Given the description of an element on the screen output the (x, y) to click on. 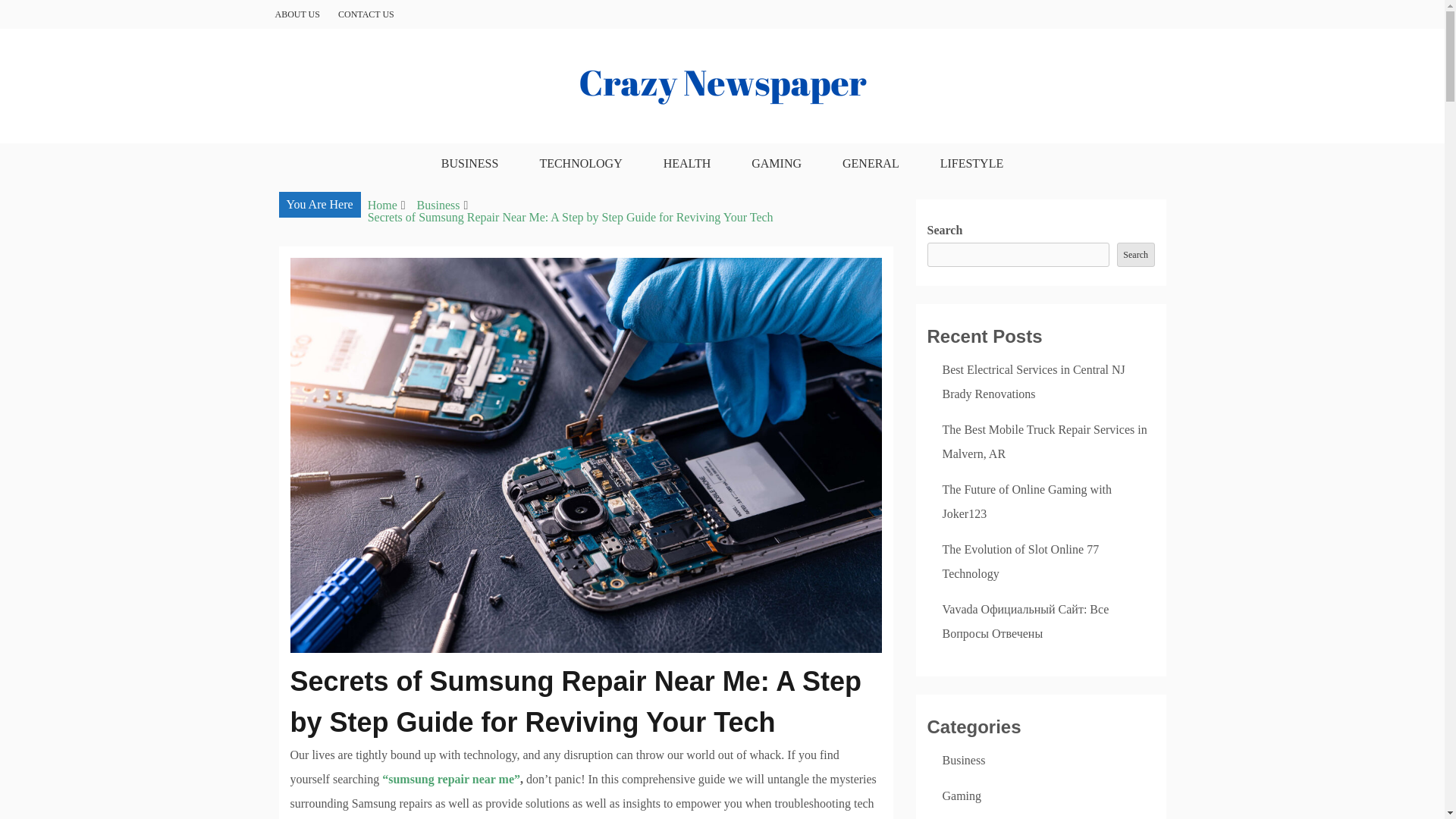
GENERAL (871, 163)
Crazy Newspaper (380, 152)
ABOUT US (296, 14)
TECHNOLOGY (580, 163)
Business (438, 205)
Gaming (961, 795)
Best Electrical Services in Central NJ Brady Renovations (1033, 381)
HEALTH (687, 163)
CONTACT US (365, 14)
BUSINESS (470, 163)
The Best Mobile Truck Repair Services in Malvern, AR (1044, 441)
The Future of Online Gaming with Joker123 (1027, 501)
Business (963, 759)
LIFESTYLE (971, 163)
